Given the description of an element on the screen output the (x, y) to click on. 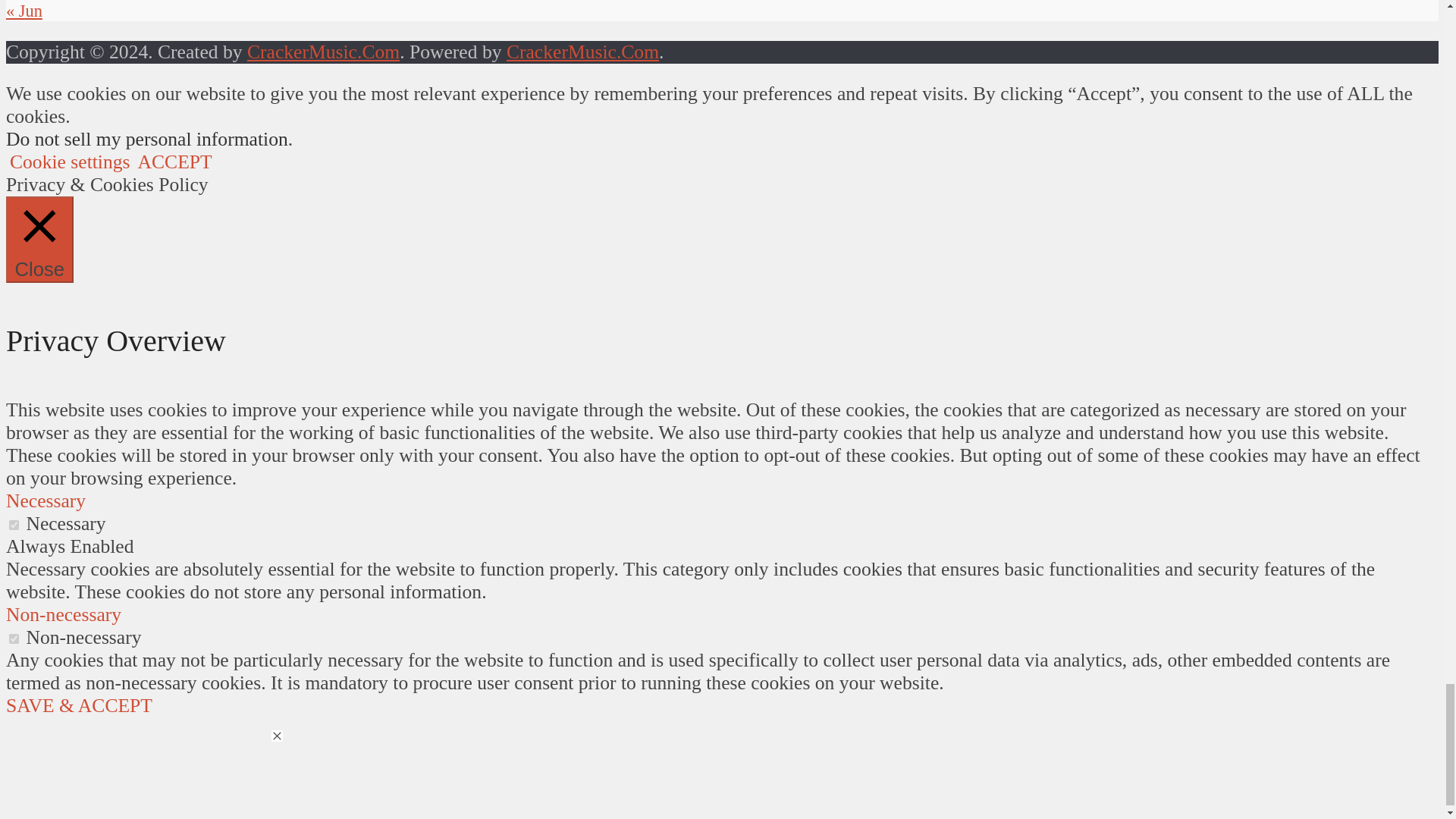
on (13, 524)
on (13, 638)
